Given the description of an element on the screen output the (x, y) to click on. 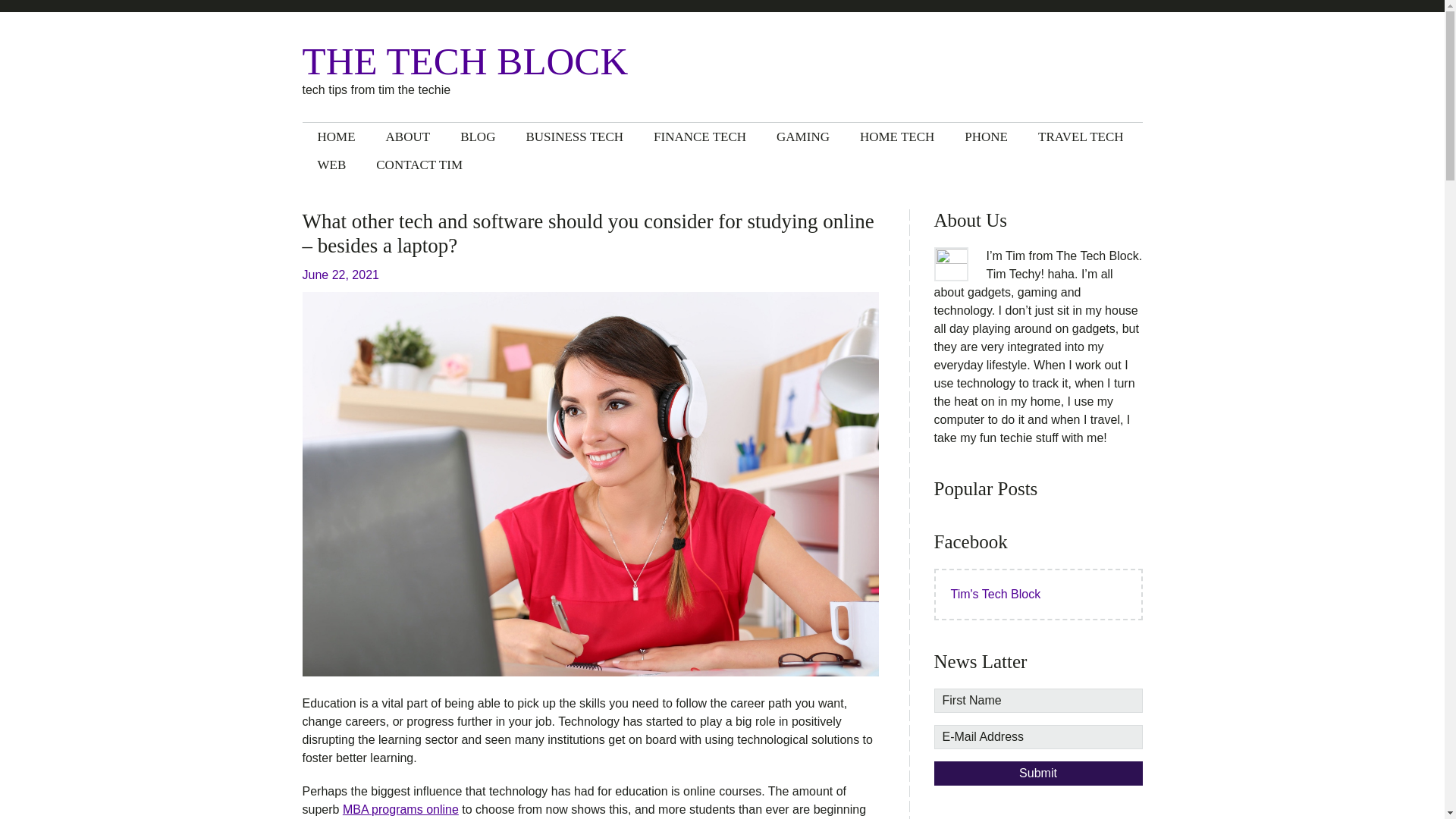
GAMING (802, 136)
THE TECH BLOCK (479, 61)
CONTACT TIM (419, 164)
MBA programs online (400, 809)
WEB (331, 164)
PHONE (986, 136)
FINANCE TECH (700, 136)
ABOUT (408, 136)
HOME (335, 136)
Submit (1038, 773)
Submit (1038, 773)
TRAVEL TECH (1080, 136)
BUSINESS TECH (575, 136)
Tim's Tech Block (995, 594)
